Given the description of an element on the screen output the (x, y) to click on. 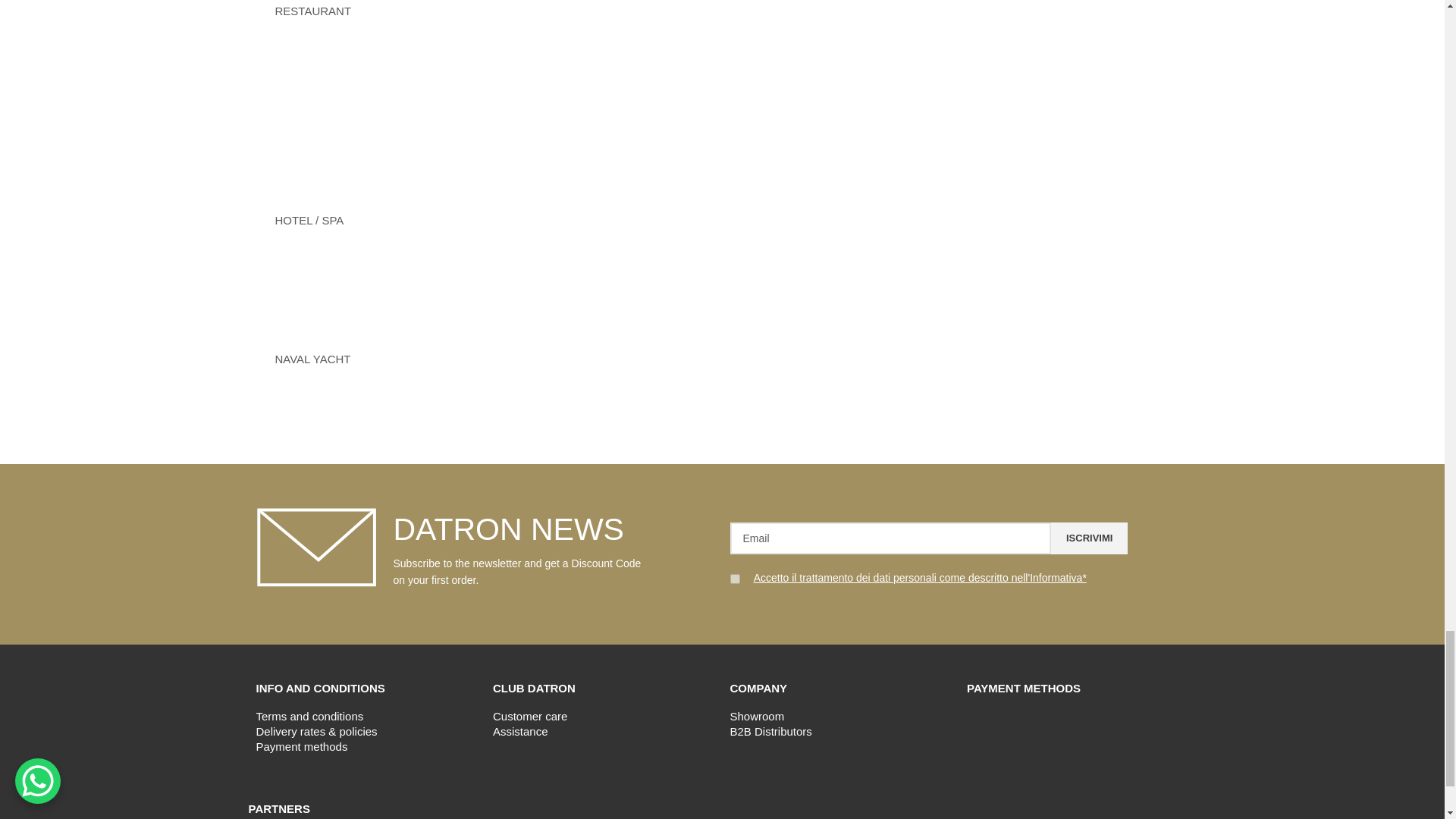
Iscrivimi (1088, 538)
1 (734, 578)
